Given the description of an element on the screen output the (x, y) to click on. 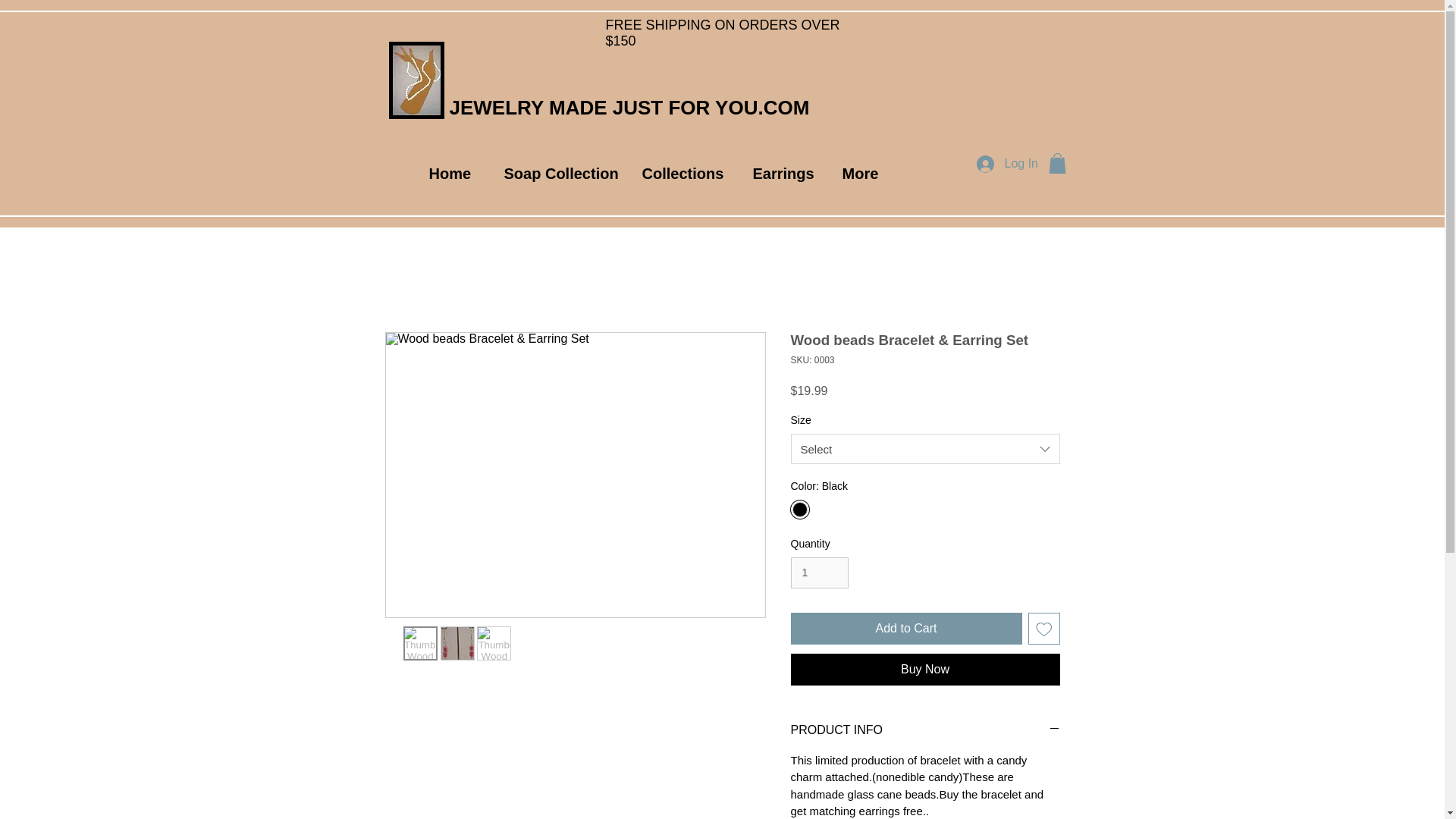
Buy Now (924, 669)
Select (924, 449)
PRODUCT INFO (924, 729)
JEWELRY MADE JUST FOR YOU.COM (628, 107)
Add to Cart (906, 628)
Collections (678, 173)
Log In (997, 162)
1 (818, 572)
Home (446, 173)
Earrings (778, 173)
Soap Collection (553, 173)
